Given the description of an element on the screen output the (x, y) to click on. 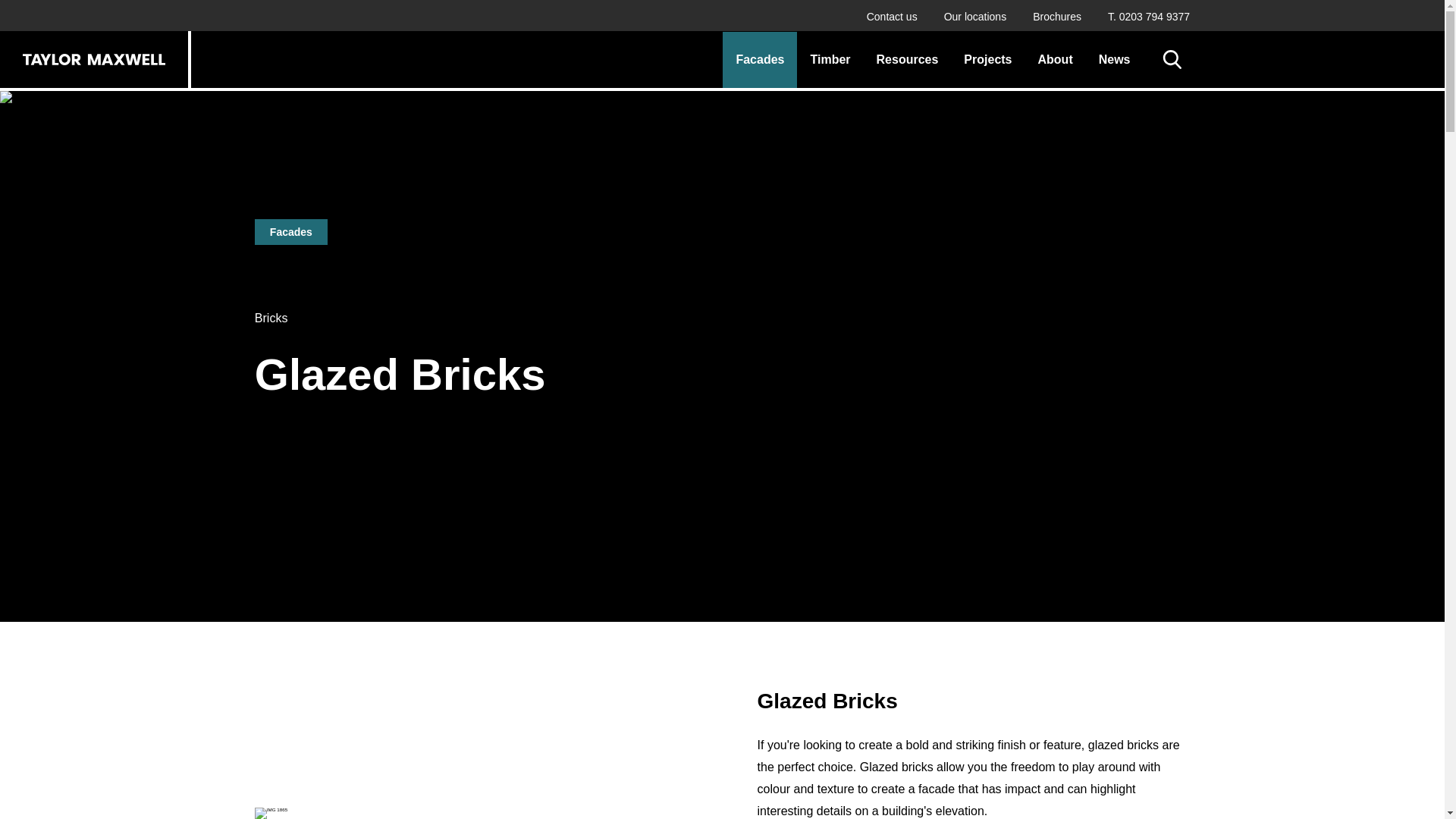
Facades (759, 59)
T. 0203 794 9377 (1148, 16)
Brochures (1056, 16)
Contact us (891, 16)
Back to Home (93, 59)
Our locations (974, 16)
